Given the description of an element on the screen output the (x, y) to click on. 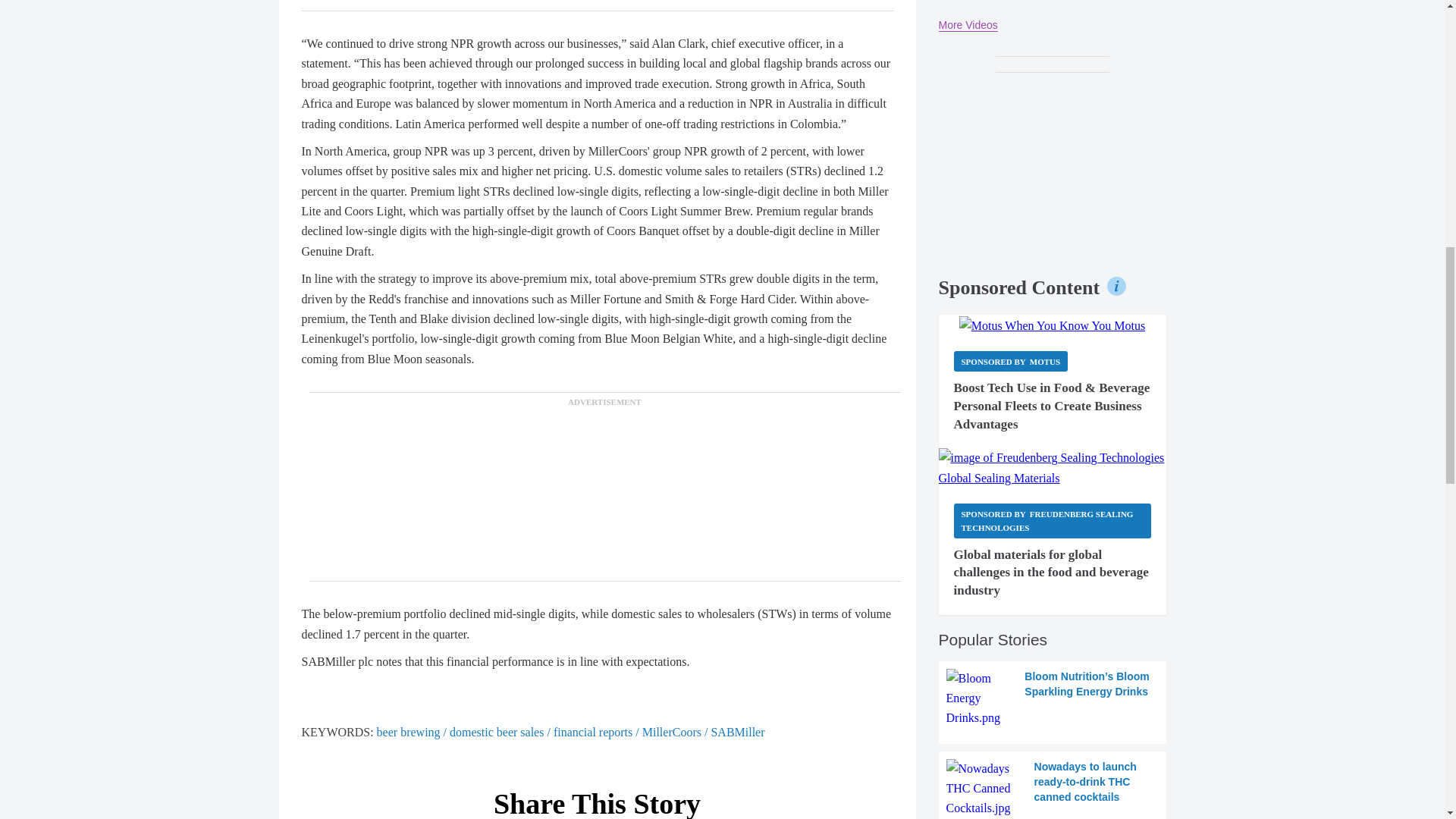
Sponsored by Freudenberg Sealing Technologies (1052, 520)
Nowadays to launch ready-to-drink THC canned cocktails (1052, 789)
Sponsored by Motus (1010, 361)
Motus When You Know You Motus (1052, 325)
Freudenberg Sealing Technologies Global Sealing Materials (1052, 467)
